Given the description of an element on the screen output the (x, y) to click on. 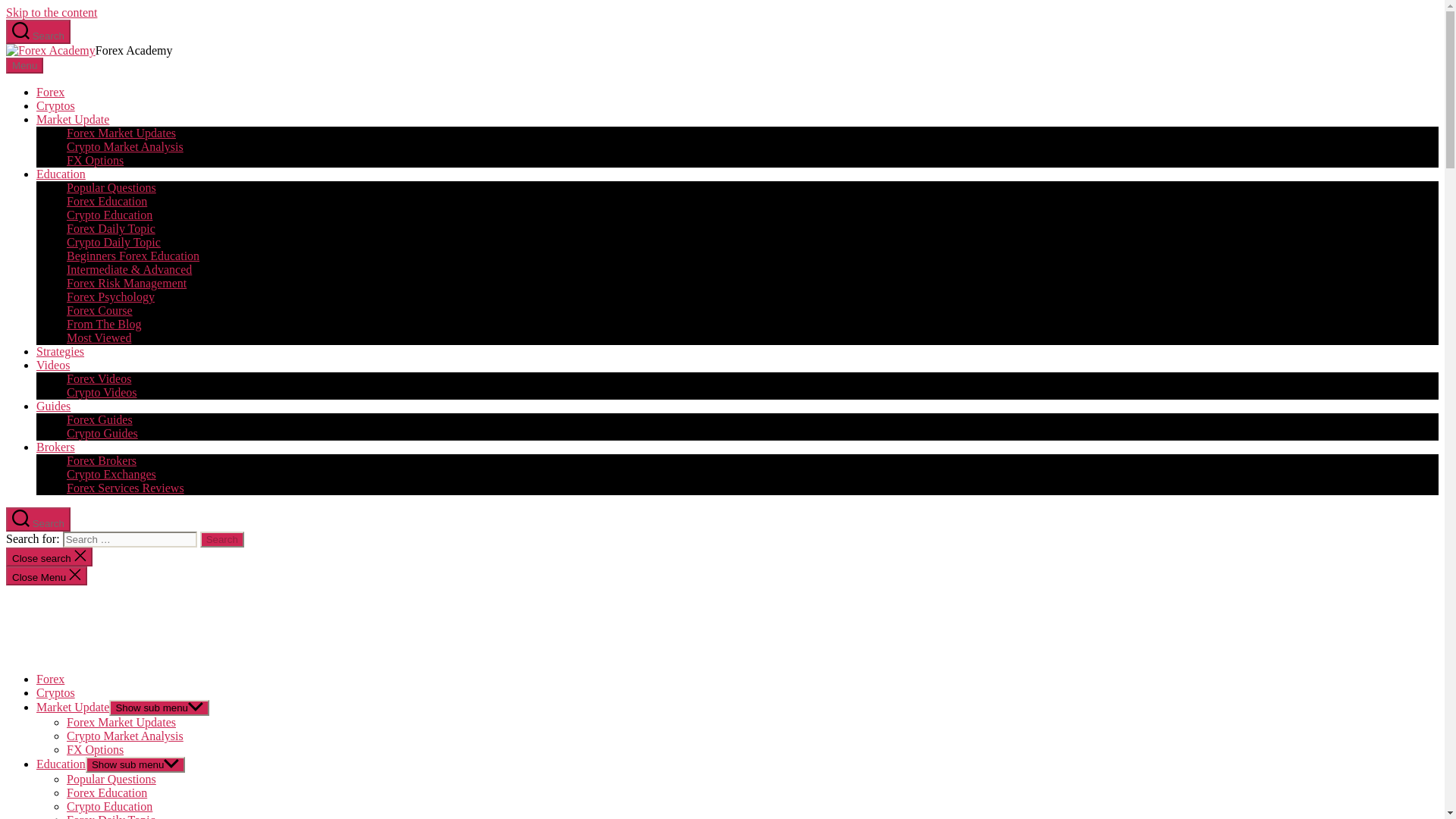
Cryptos (55, 692)
Forex Education (106, 201)
Popular Questions (110, 187)
Menu (24, 65)
Search (222, 539)
Skip to the content (51, 11)
Forex Psychology (110, 296)
Crypto Daily Topic (113, 241)
Crypto Education (109, 214)
FX Options (94, 160)
